Given the description of an element on the screen output the (x, y) to click on. 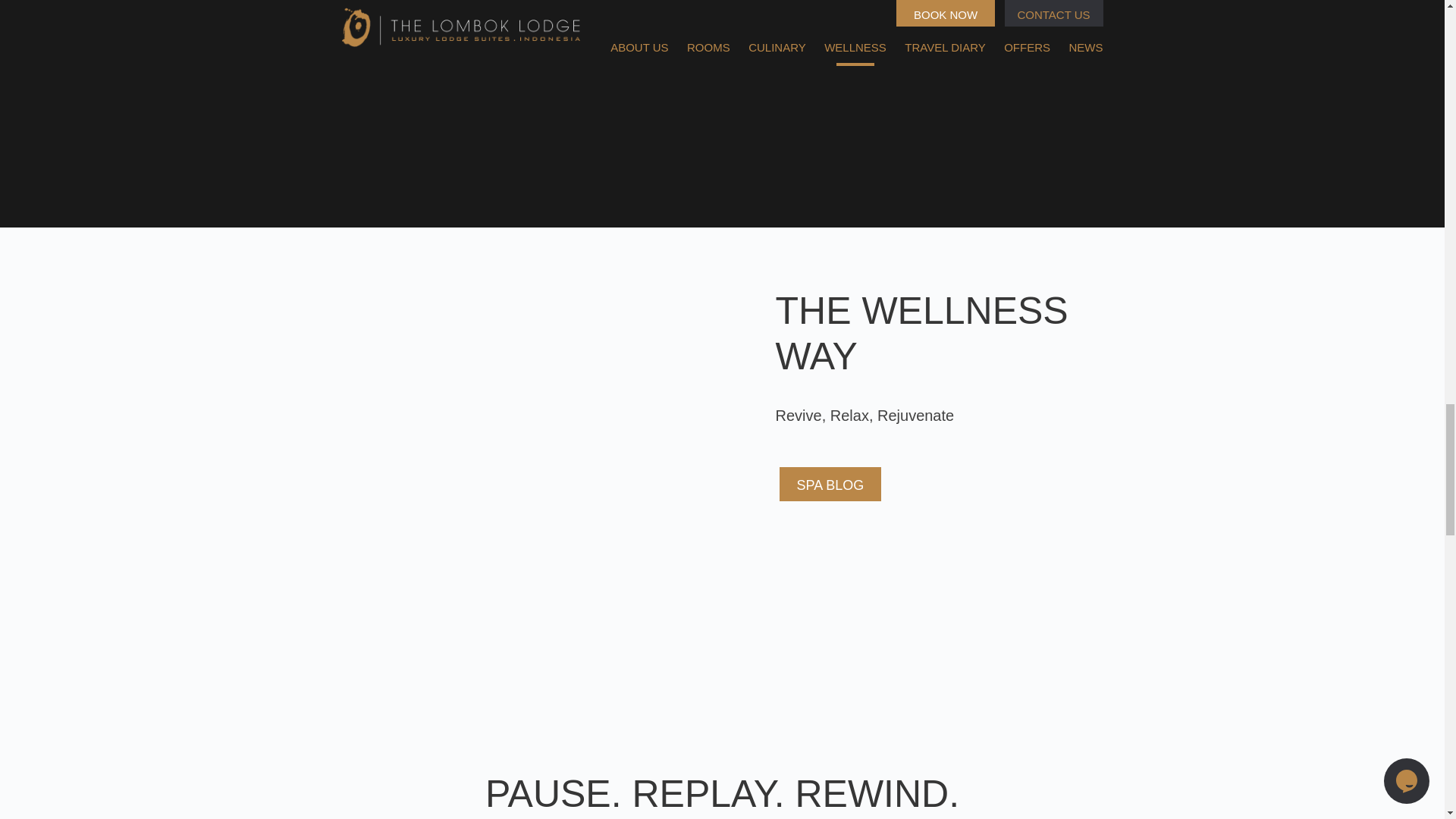
SPA BLOG (830, 483)
